Given the description of an element on the screen output the (x, y) to click on. 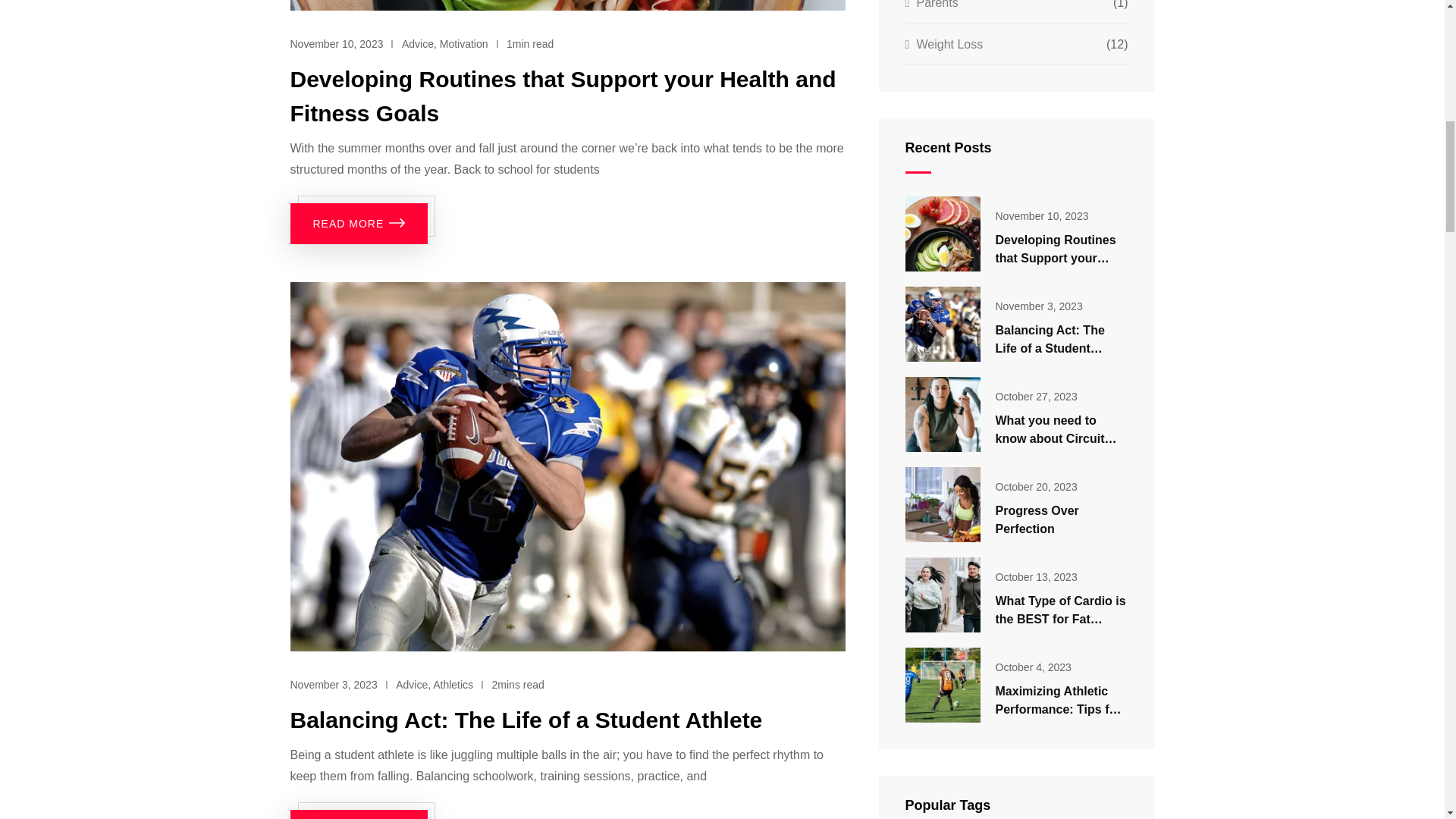
Balancing Act: The Life of a Student Athlete (942, 323)
What you need to know about Circuit Training (942, 414)
Progress Over Perfection (942, 504)
Balancing Act: The Life of a Student Athlete (525, 719)
TOP (1410, 60)
Advice (417, 43)
READ MORE (358, 223)
Advice (412, 684)
Motivation (463, 43)
READ MORE (358, 814)
Athletics (452, 684)
What Type of Cardio is the BEST for Fat Loss? (942, 594)
